Given the description of an element on the screen output the (x, y) to click on. 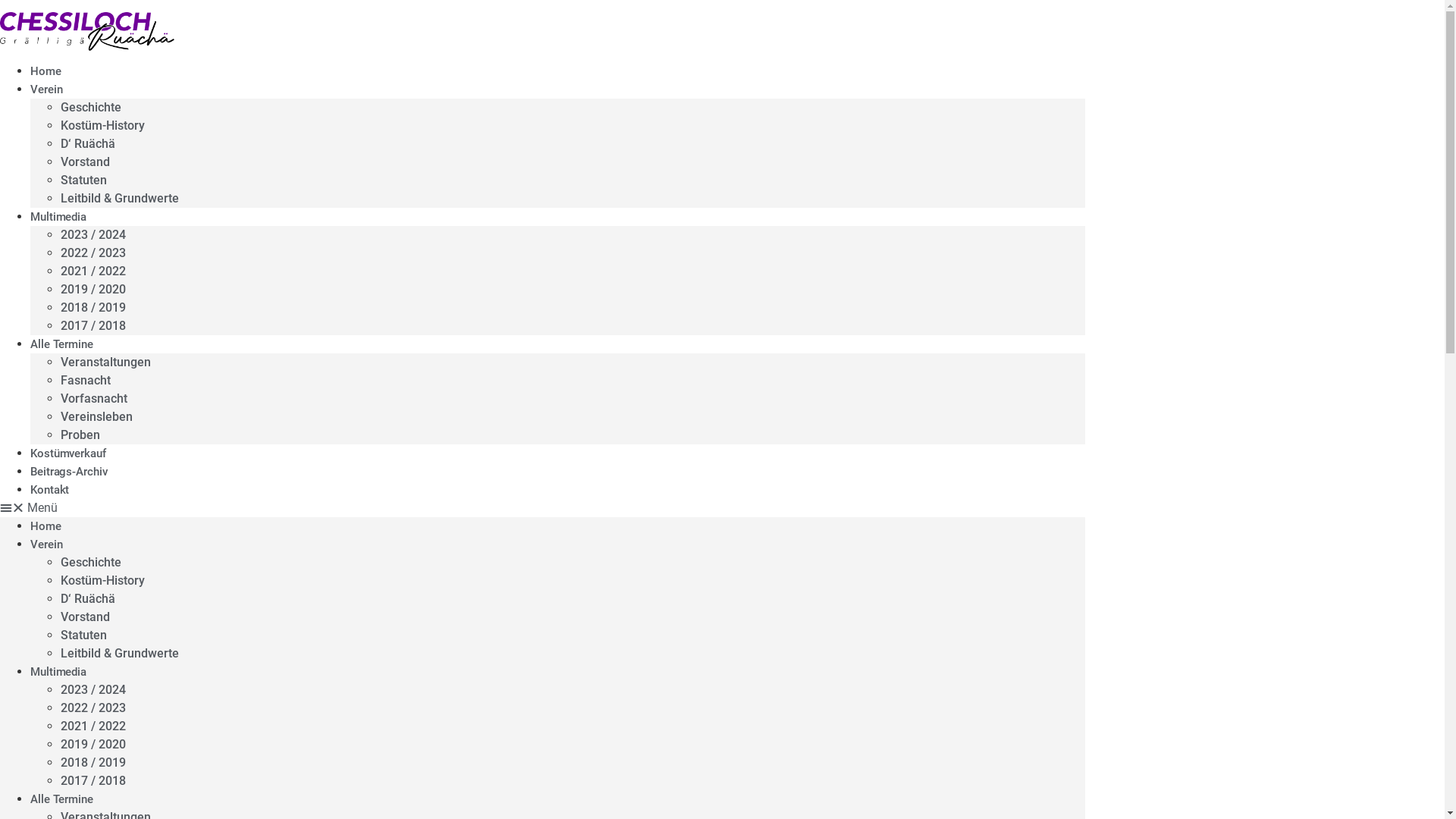
Multimedia Element type: text (58, 671)
2022 / 2023 Element type: text (92, 707)
Alle Termine Element type: text (61, 799)
2022 / 2023 Element type: text (92, 252)
Veranstaltungen Element type: text (105, 361)
2021 / 2022 Element type: text (92, 270)
Multimedia Element type: text (58, 216)
Home Element type: text (45, 70)
2018 / 2019 Element type: text (92, 762)
Geschichte Element type: text (90, 107)
Alle Termine Element type: text (61, 343)
2019 / 2020 Element type: text (92, 744)
Home Element type: text (45, 526)
Geschichte Element type: text (90, 562)
2023 / 2024 Element type: text (92, 234)
Fasnacht Element type: text (85, 380)
2017 / 2018 Element type: text (92, 780)
Verein Element type: text (46, 544)
Vorfasnacht Element type: text (93, 398)
2017 / 2018 Element type: text (92, 325)
Vereinsleben Element type: text (96, 416)
Verein Element type: text (46, 89)
2021 / 2022 Element type: text (92, 725)
2019 / 2020 Element type: text (92, 289)
Leitbild & Grundwerte Element type: text (119, 198)
2018 / 2019 Element type: text (92, 307)
Statuten Element type: text (83, 179)
2023 / 2024 Element type: text (92, 689)
Statuten Element type: text (83, 634)
Beitrags-Archiv Element type: text (68, 471)
Kontakt Element type: text (49, 489)
Leitbild & Grundwerte Element type: text (119, 653)
Vorstand Element type: text (84, 161)
Proben Element type: text (80, 434)
Vorstand Element type: text (84, 616)
